Given the description of an element on the screen output the (x, y) to click on. 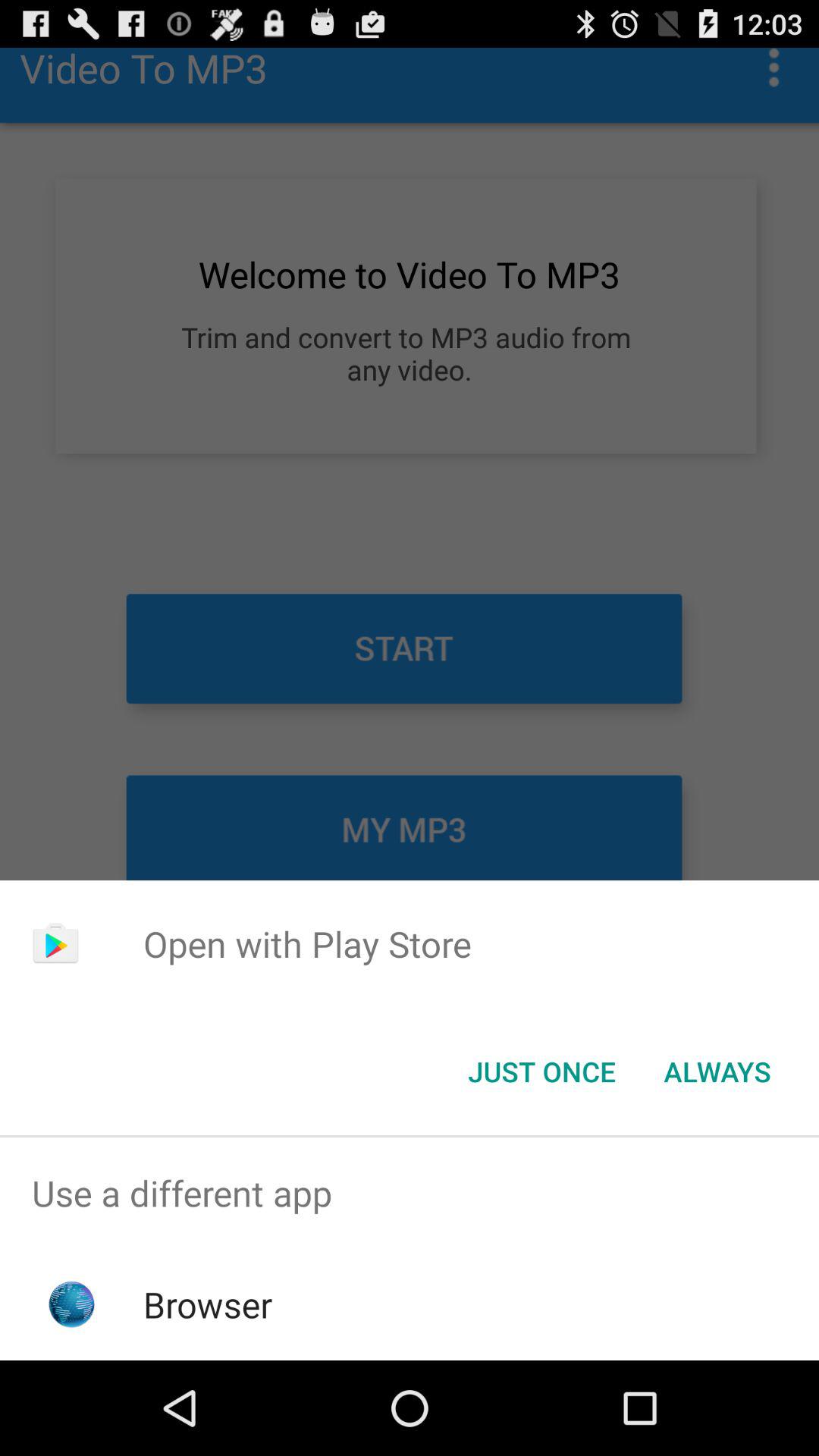
flip until the always item (717, 1071)
